Given the description of an element on the screen output the (x, y) to click on. 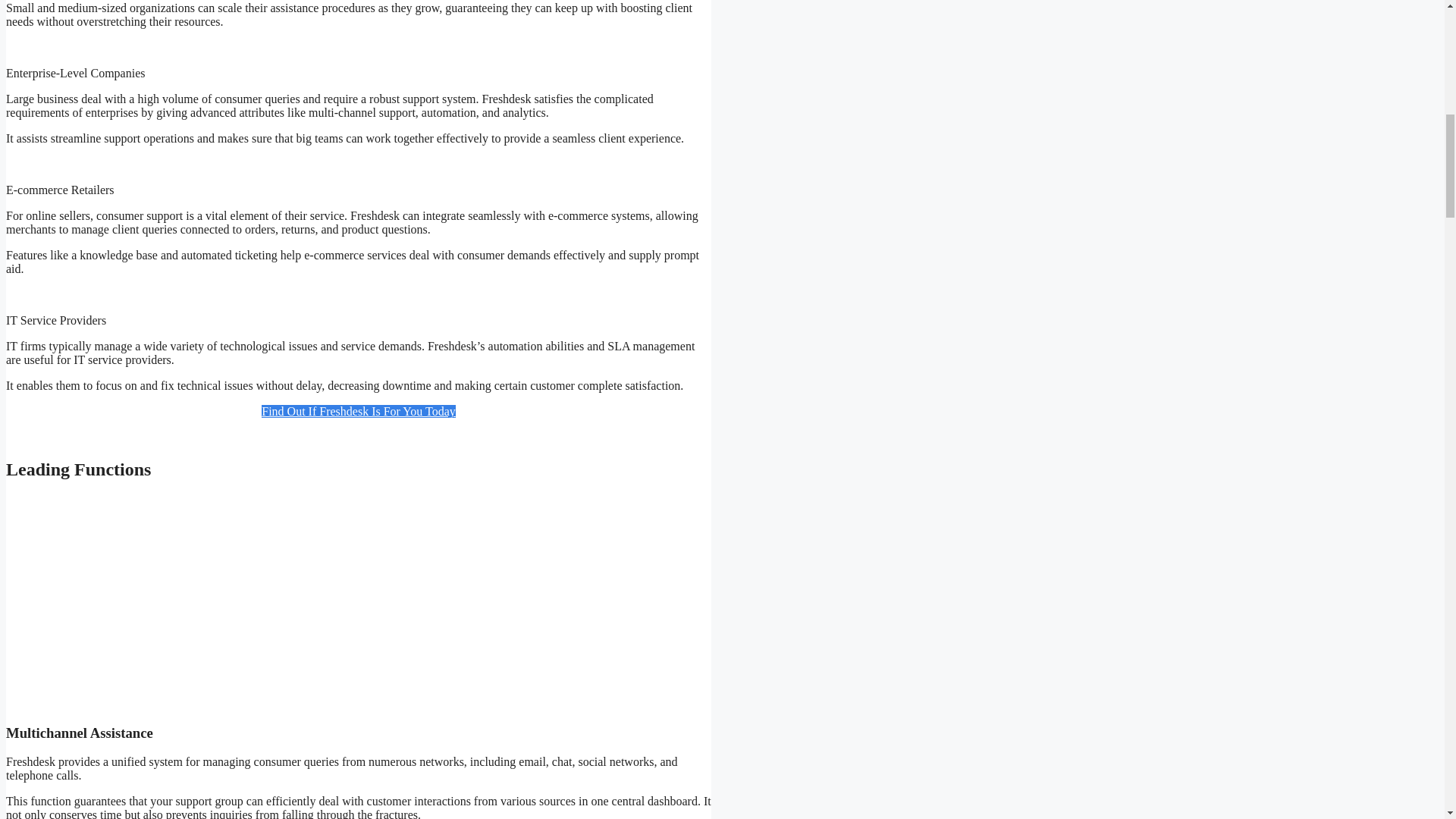
Find Out If Freshdesk Is For You Today (358, 410)
